Given the description of an element on the screen output the (x, y) to click on. 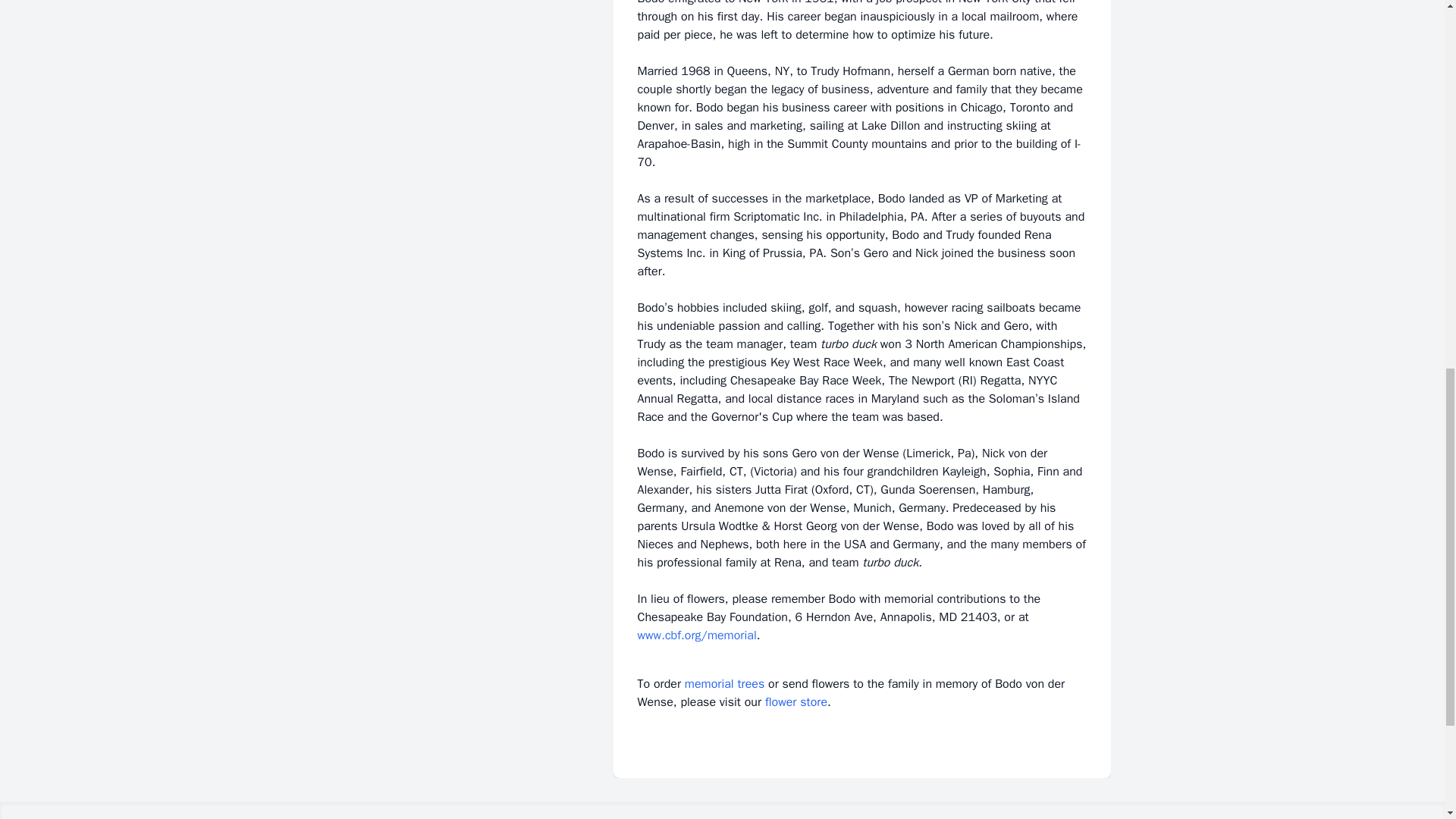
memorial trees (724, 683)
flower store (796, 702)
